Given the description of an element on the screen output the (x, y) to click on. 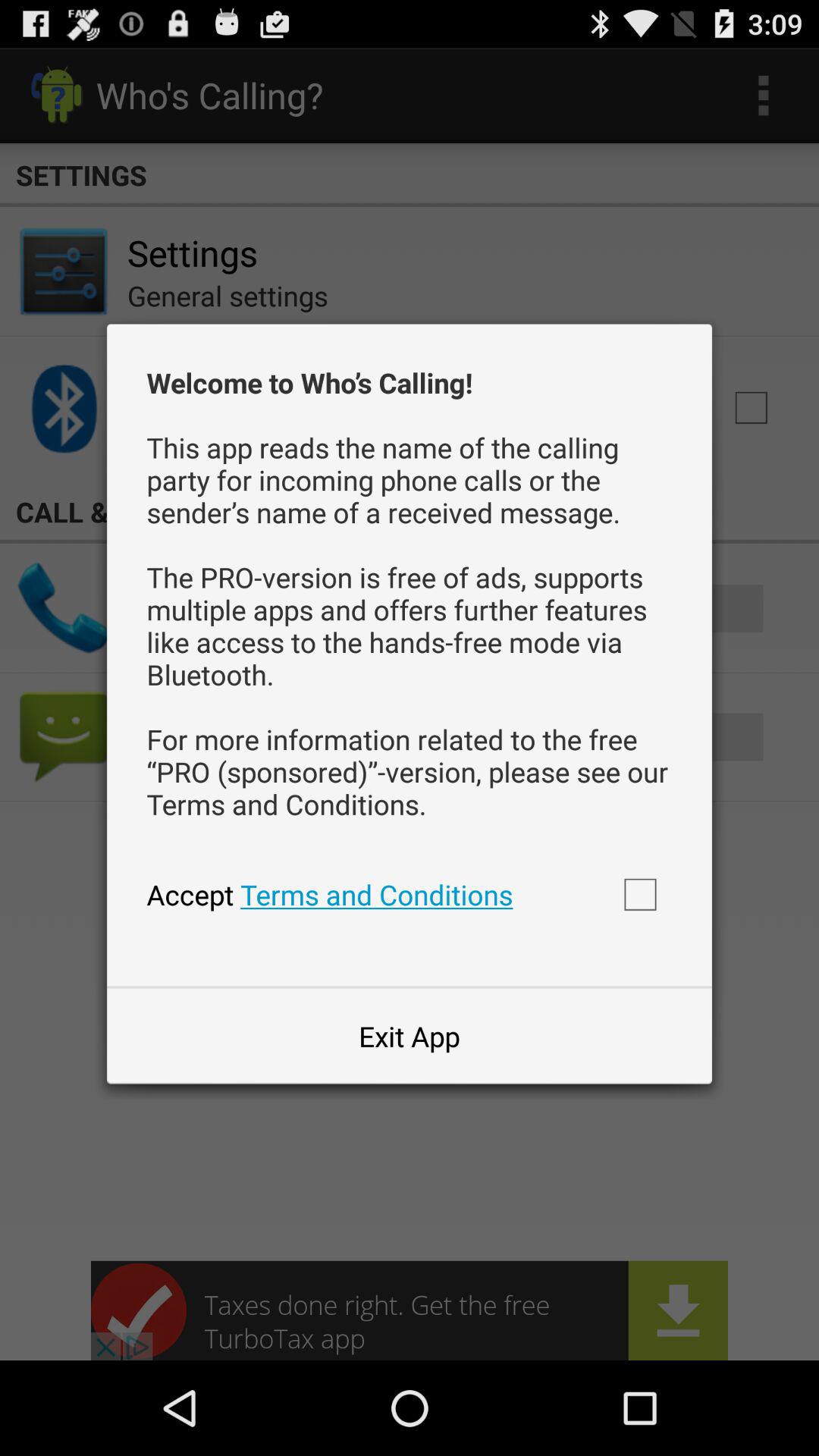
turn on the exit app button (409, 1036)
